Given the description of an element on the screen output the (x, y) to click on. 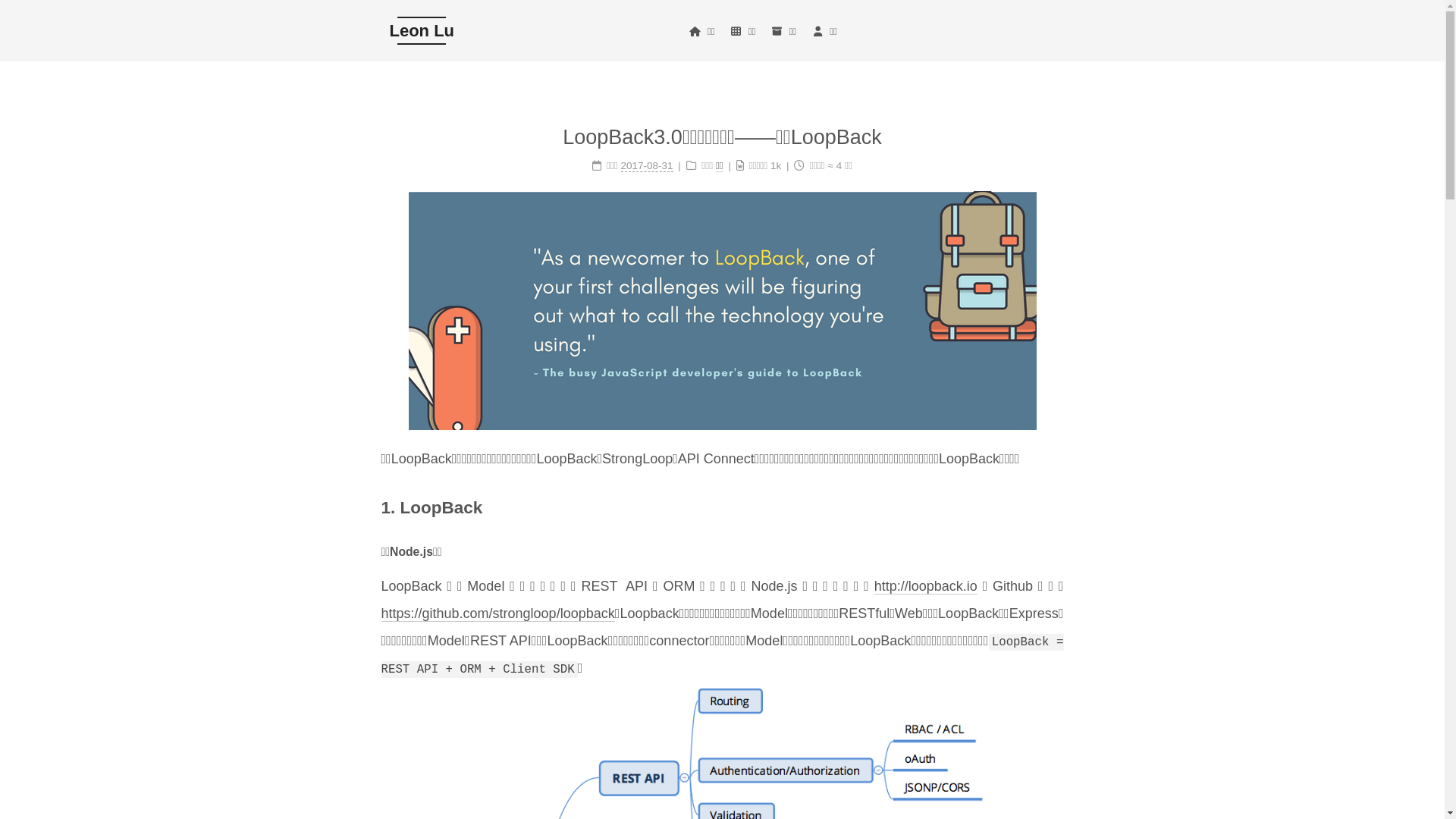
https://github.com/strongloop/loopback Element type: text (497, 613)
Leon Lu Element type: text (421, 30)
http://loopback.io Element type: text (925, 586)
